Given the description of an element on the screen output the (x, y) to click on. 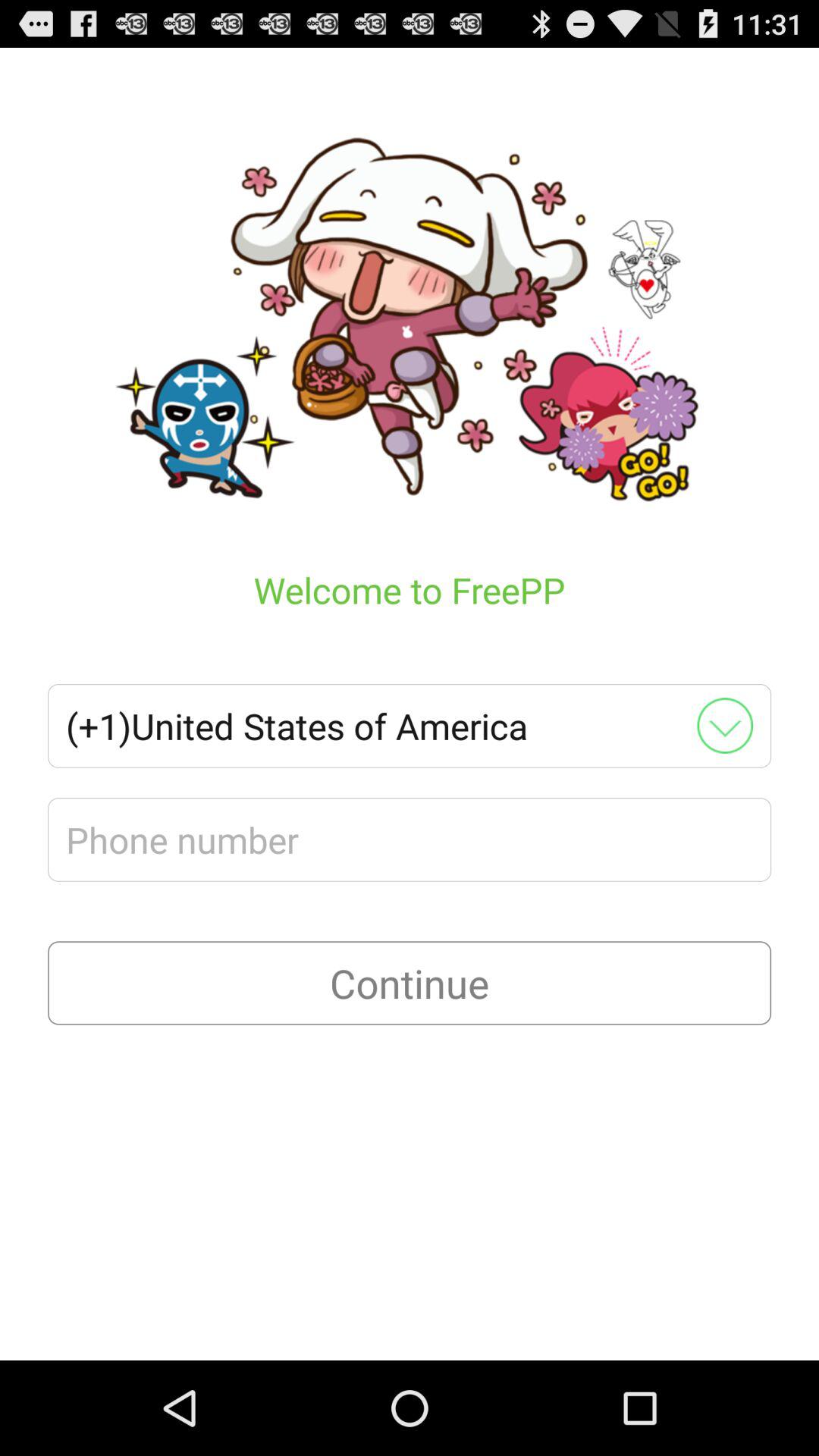
enter phone number (409, 839)
